Given the description of an element on the screen output the (x, y) to click on. 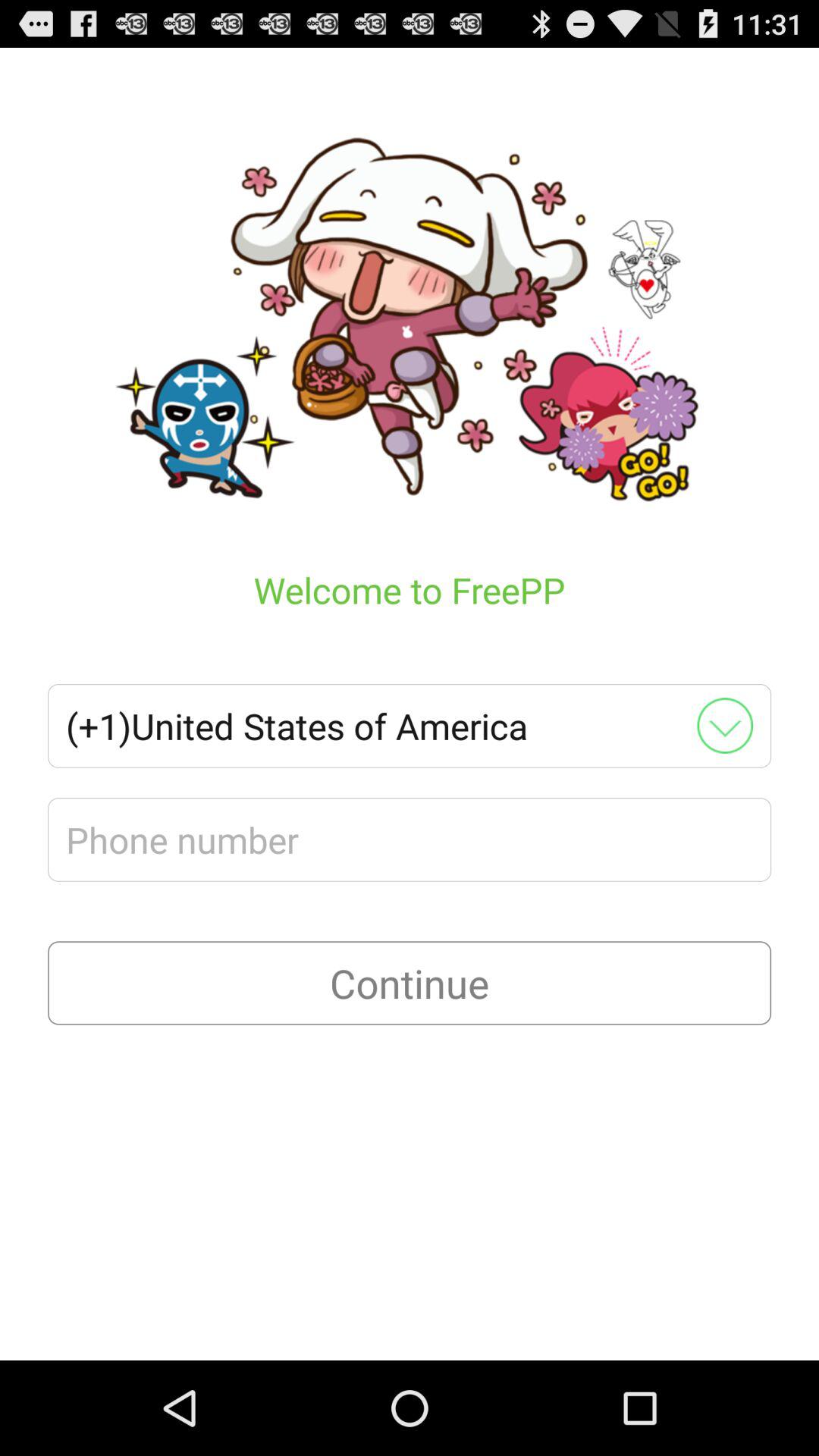
enter phone number (409, 839)
